Given the description of an element on the screen output the (x, y) to click on. 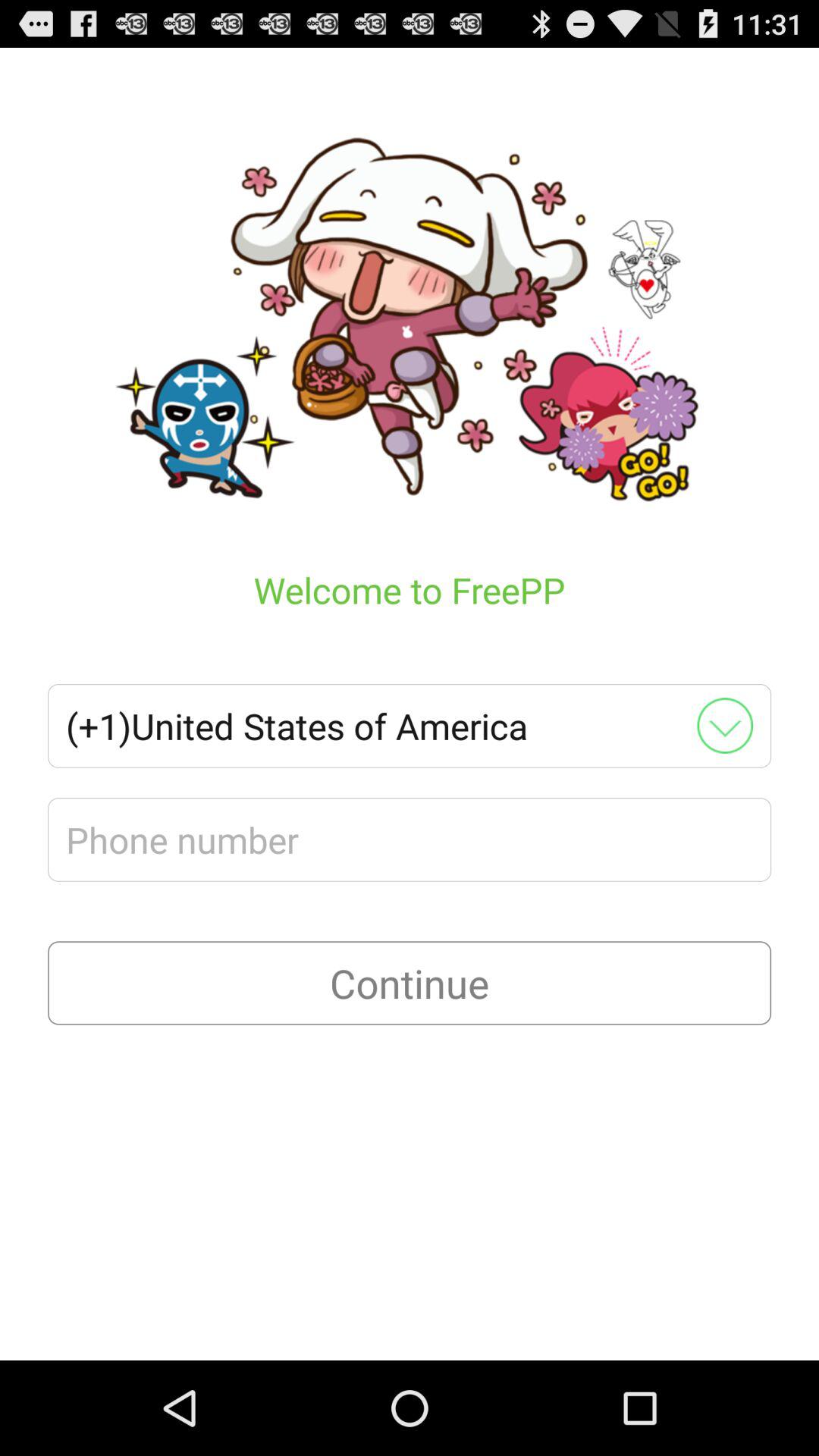
enter phone number (409, 839)
